Given the description of an element on the screen output the (x, y) to click on. 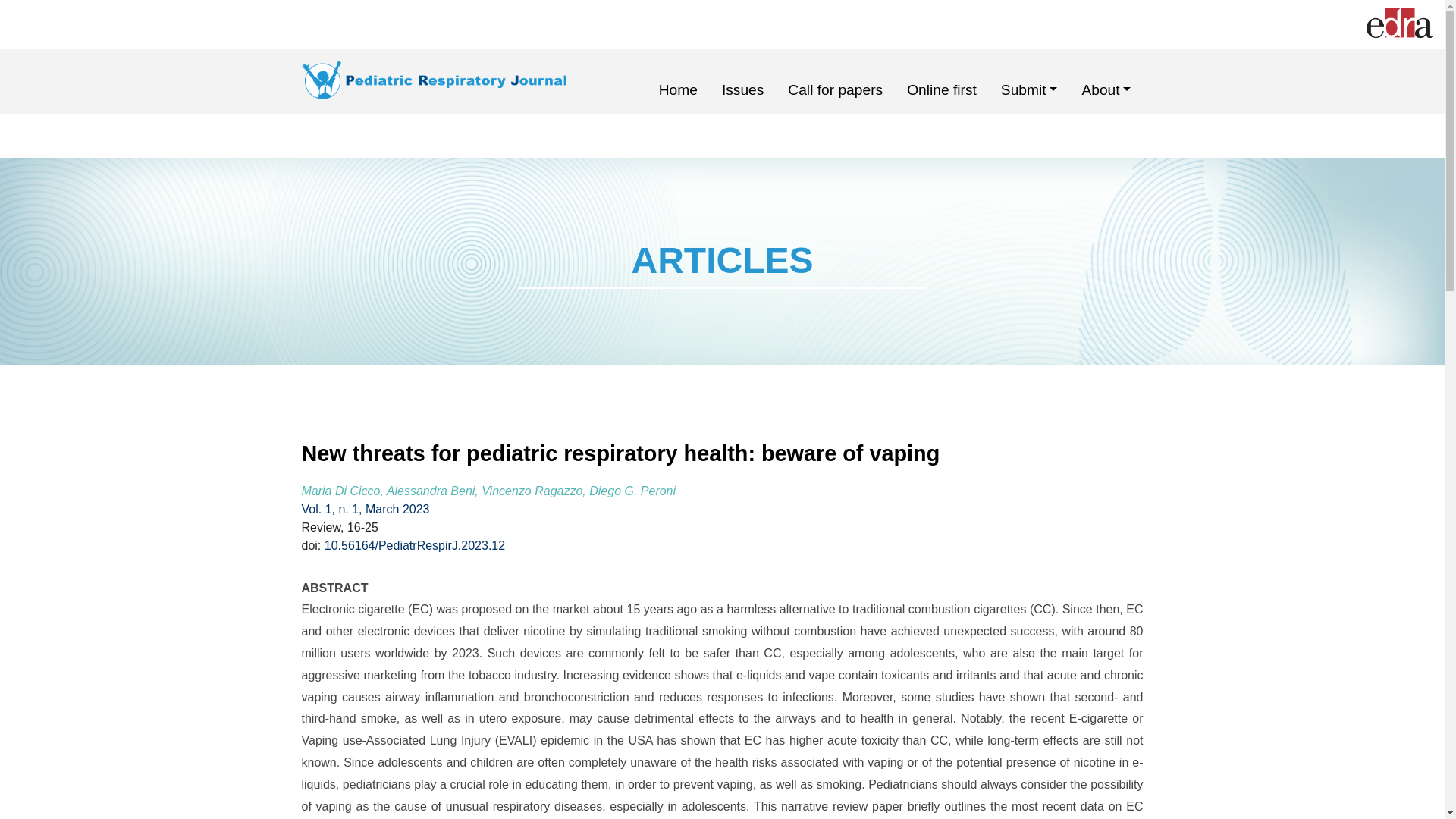
Online first (941, 90)
Vol. 1, n. 1, March 2023 (365, 508)
Call for papers (834, 90)
Submit (1029, 90)
Issues (742, 90)
About (1105, 90)
Home (678, 90)
